Given the description of an element on the screen output the (x, y) to click on. 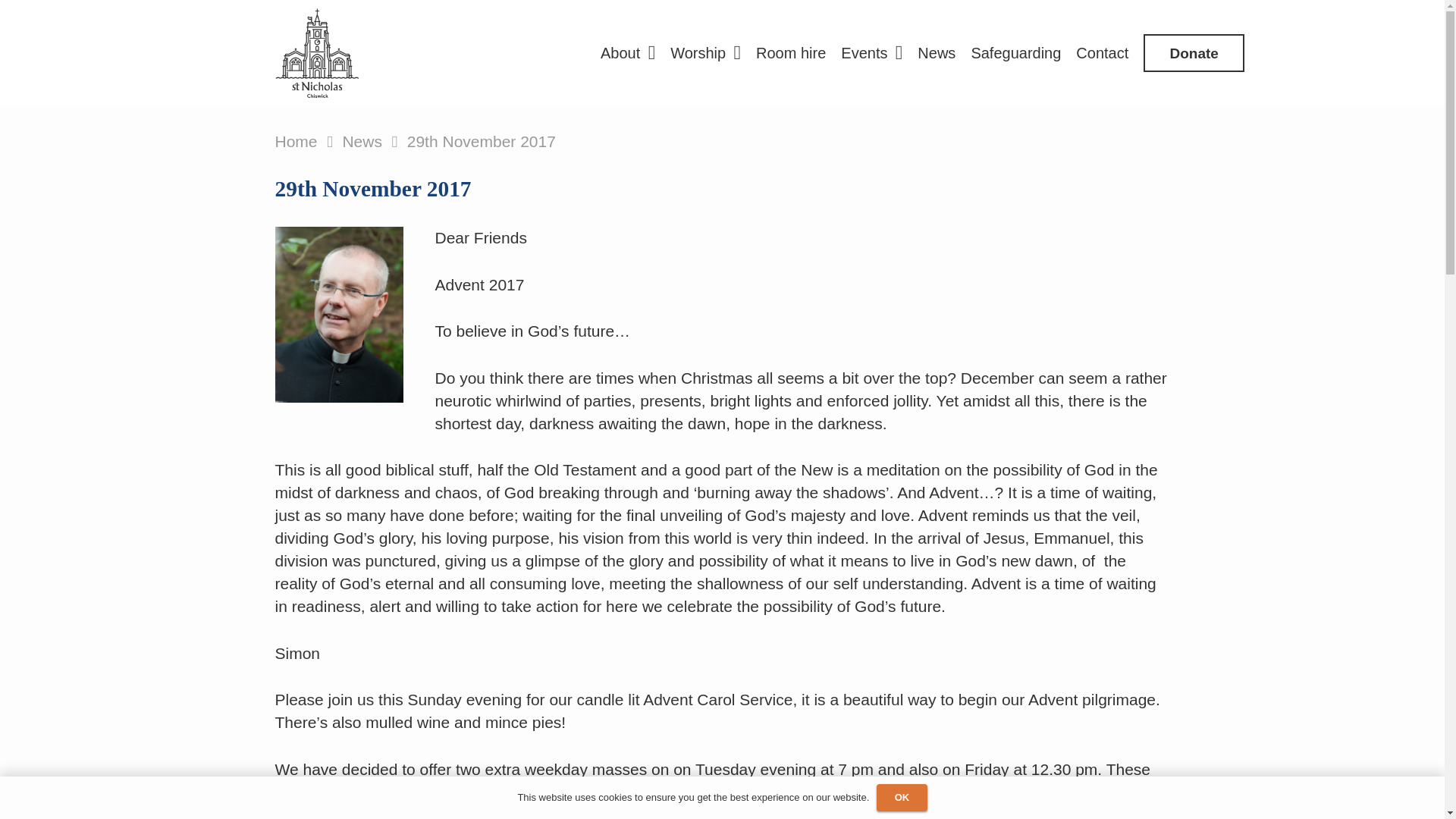
Events (871, 53)
About (627, 53)
Worship (705, 53)
Room hire (790, 53)
